Given the description of an element on the screen output the (x, y) to click on. 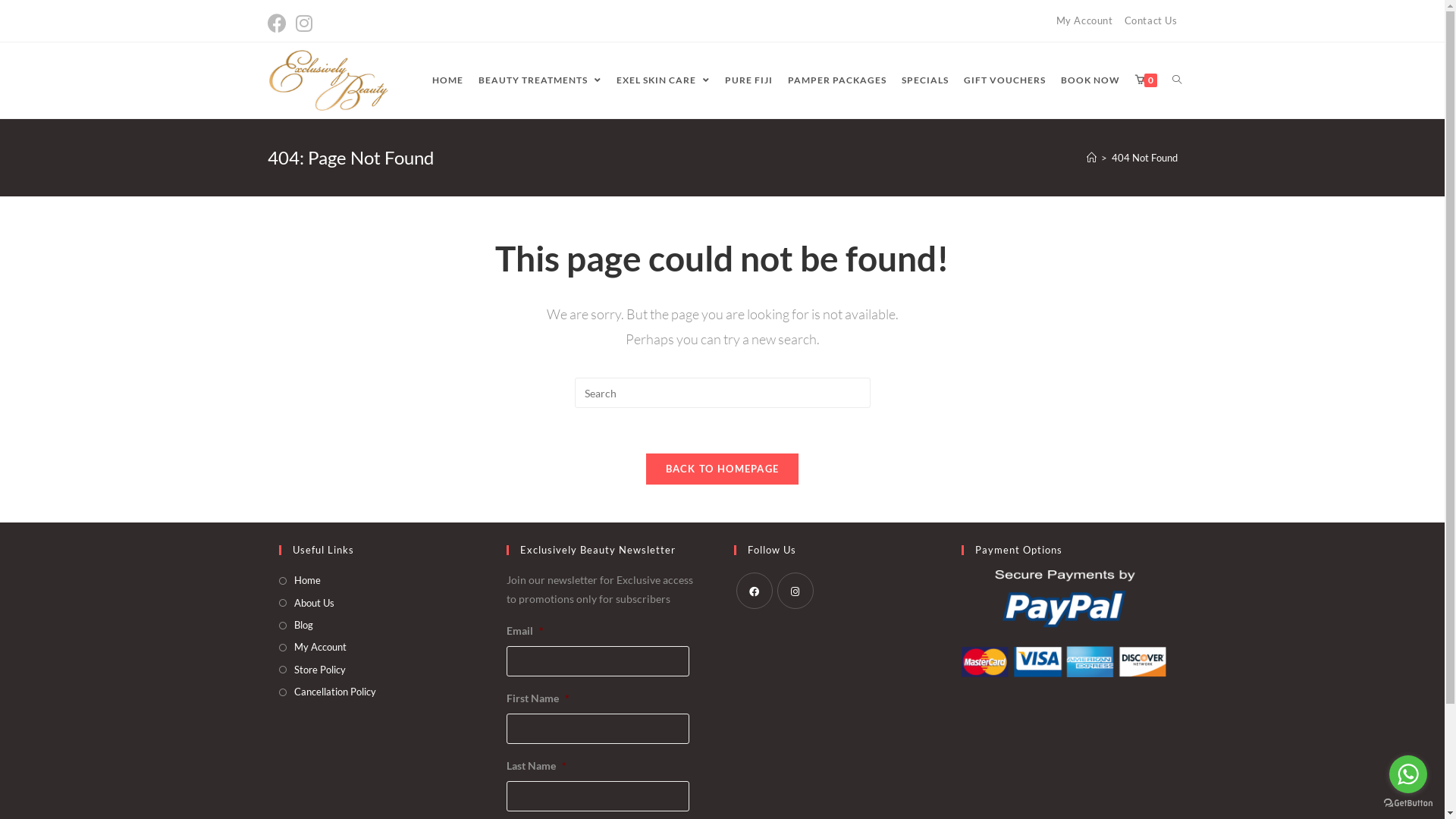
0 Element type: text (1145, 80)
404 Not Found Element type: text (1144, 157)
SPECIALS Element type: text (924, 80)
GIFT VOUCHERS Element type: text (1003, 80)
Store Policy Element type: text (312, 669)
HOME Element type: text (447, 80)
PAMPER PACKAGES Element type: text (836, 80)
BOOK NOW Element type: text (1089, 80)
BACK TO HOMEPAGE Element type: text (722, 468)
My Account Element type: text (312, 646)
BEAUTY TREATMENTS Element type: text (539, 80)
Contact Us Element type: text (1149, 20)
Blog Element type: text (296, 624)
Home Element type: text (299, 580)
About Us Element type: text (306, 602)
My Account Element type: text (1083, 20)
PURE FIJI Element type: text (748, 80)
EXEL SKIN CARE Element type: text (662, 80)
Cancellation Policy Element type: text (327, 691)
